Given the description of an element on the screen output the (x, y) to click on. 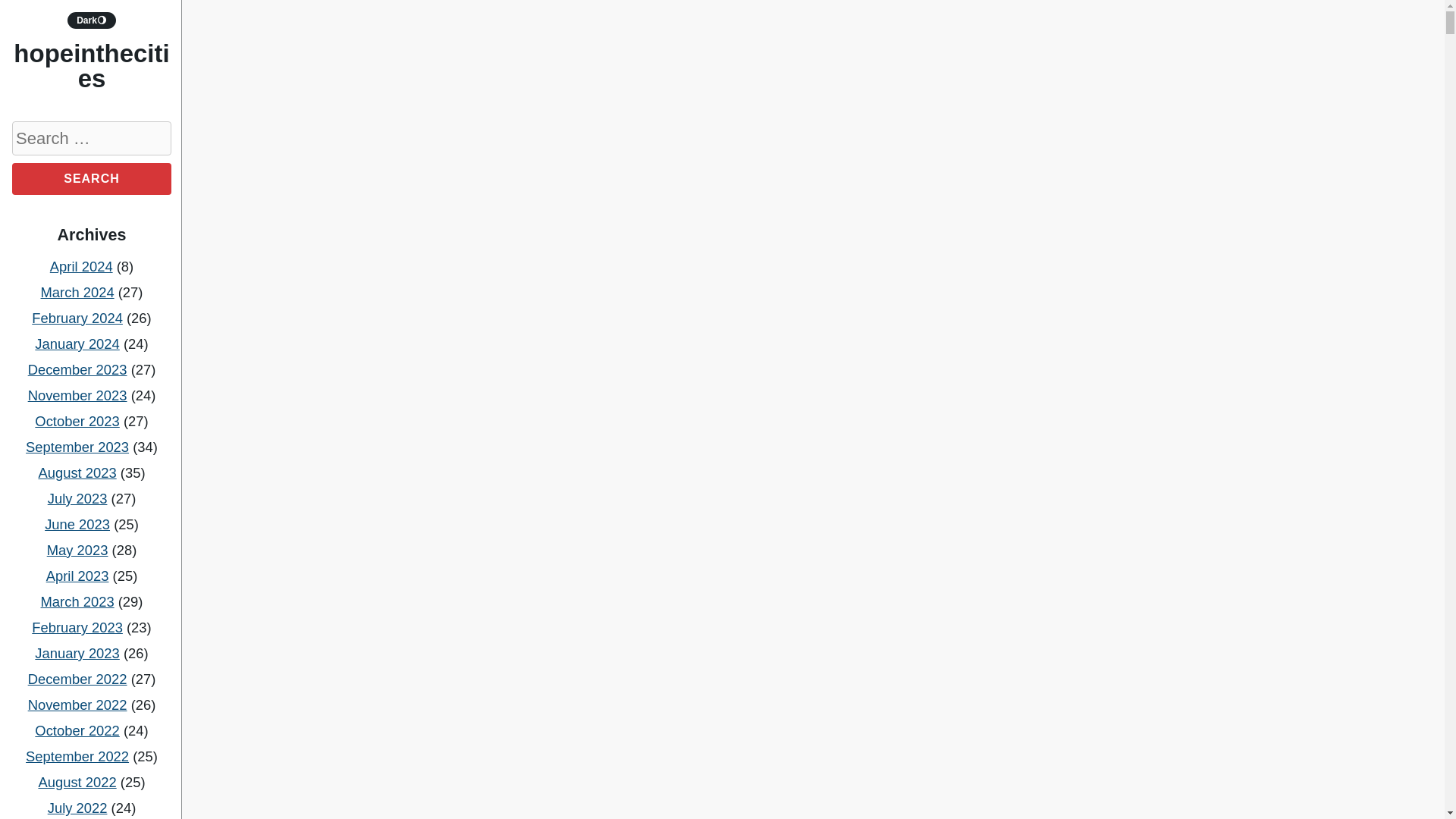
October 2022 (76, 730)
April 2023 (77, 575)
December 2022 (77, 678)
Search (91, 178)
December 2023 (77, 369)
The Myths About the Lottery (786, 167)
November 2022 (77, 704)
Search (91, 178)
July 2022 (77, 807)
Search (91, 178)
